Given the description of an element on the screen output the (x, y) to click on. 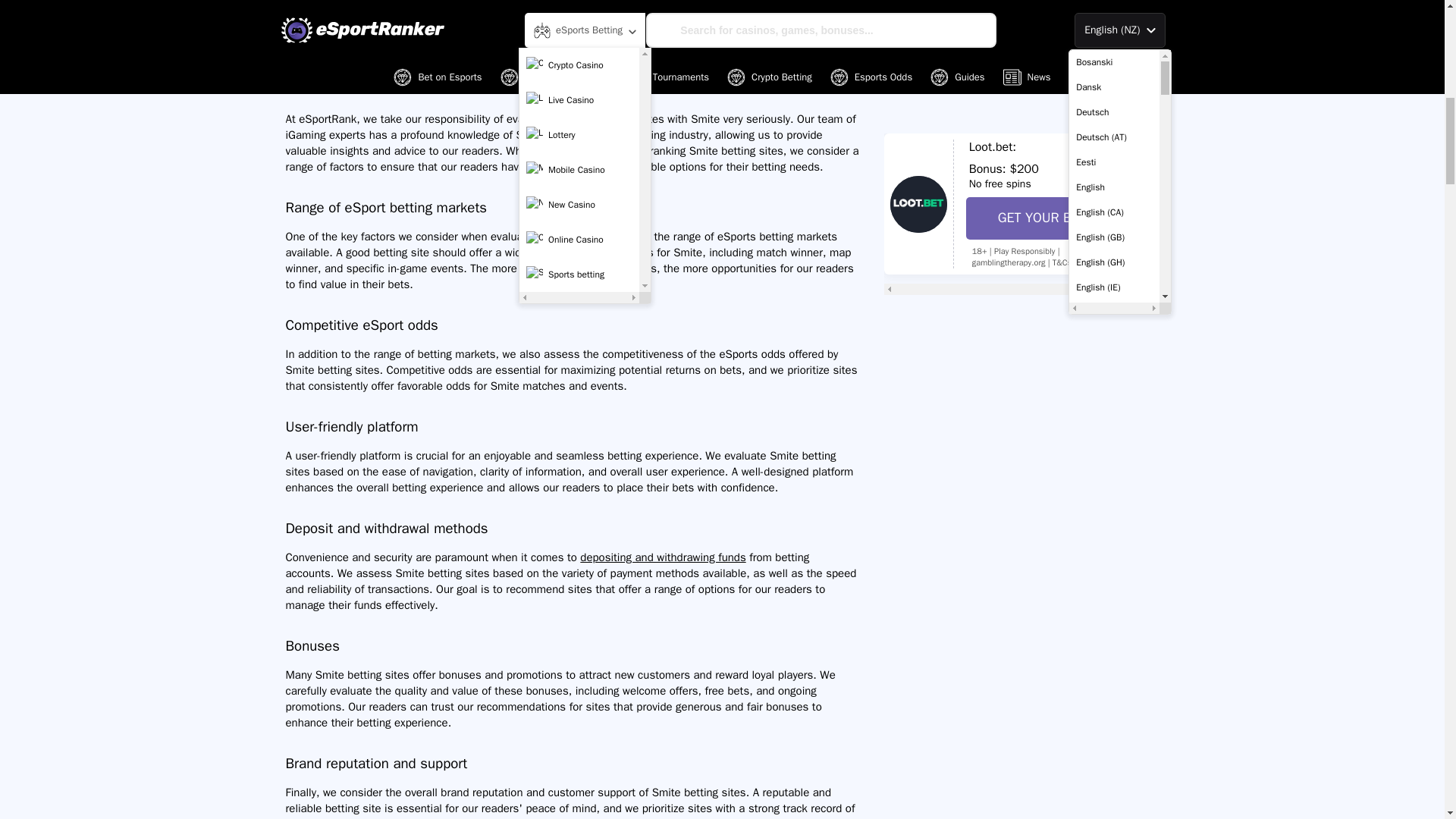
Hrvatski (1113, 3)
